Given the description of an element on the screen output the (x, y) to click on. 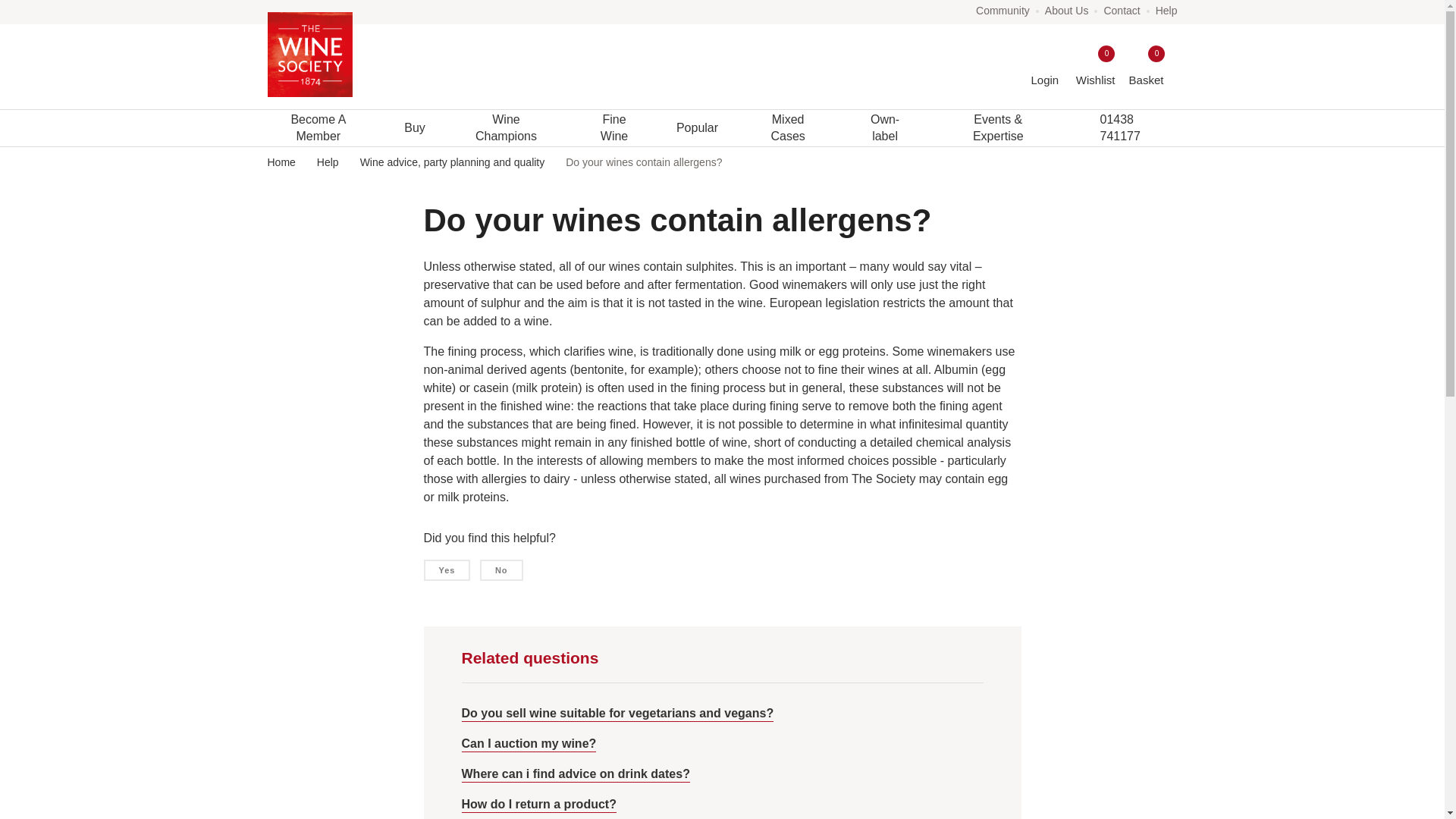
About Us (1067, 10)
Community (1002, 10)
Help (1166, 10)
Login (1145, 66)
Become A Member (1045, 66)
Buy (1095, 66)
Contact (318, 127)
